Given the description of an element on the screen output the (x, y) to click on. 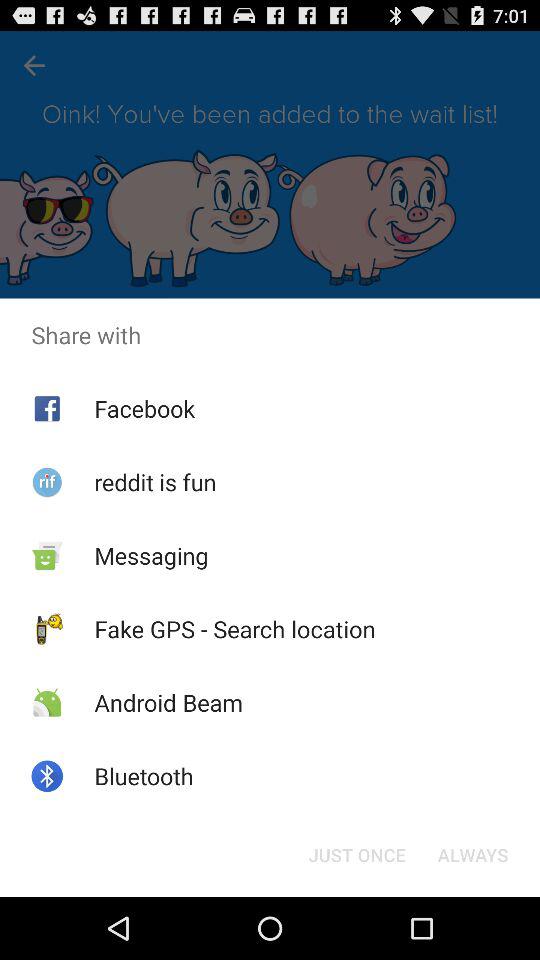
open the always at the bottom right corner (472, 854)
